Given the description of an element on the screen output the (x, y) to click on. 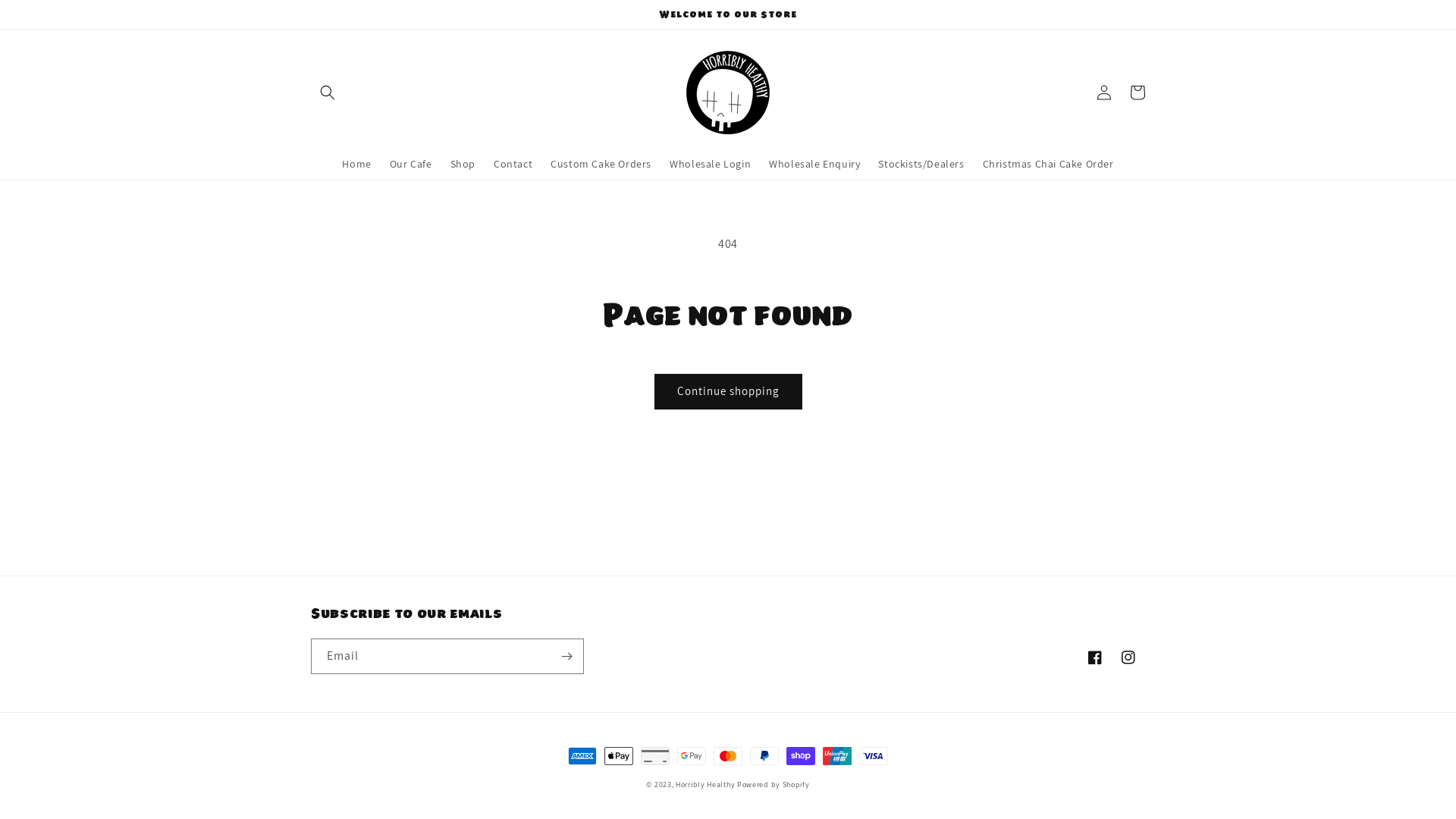
Custom Cake Orders Element type: text (600, 163)
Cart Element type: text (1137, 92)
Shop Element type: text (462, 163)
Horribly Healthy Element type: text (704, 784)
Instagram Element type: text (1128, 657)
Contact Element type: text (512, 163)
Wholesale Login Element type: text (709, 163)
Our Cafe Element type: text (410, 163)
Christmas Chai Cake Order Element type: text (1048, 163)
Stockists/Dealers Element type: text (920, 163)
Facebook Element type: text (1094, 657)
Continue shopping Element type: text (727, 391)
Powered by Shopify Element type: text (773, 784)
Wholesale Enquiry Element type: text (814, 163)
Log in Element type: text (1103, 92)
Home Element type: text (355, 163)
